Given the description of an element on the screen output the (x, y) to click on. 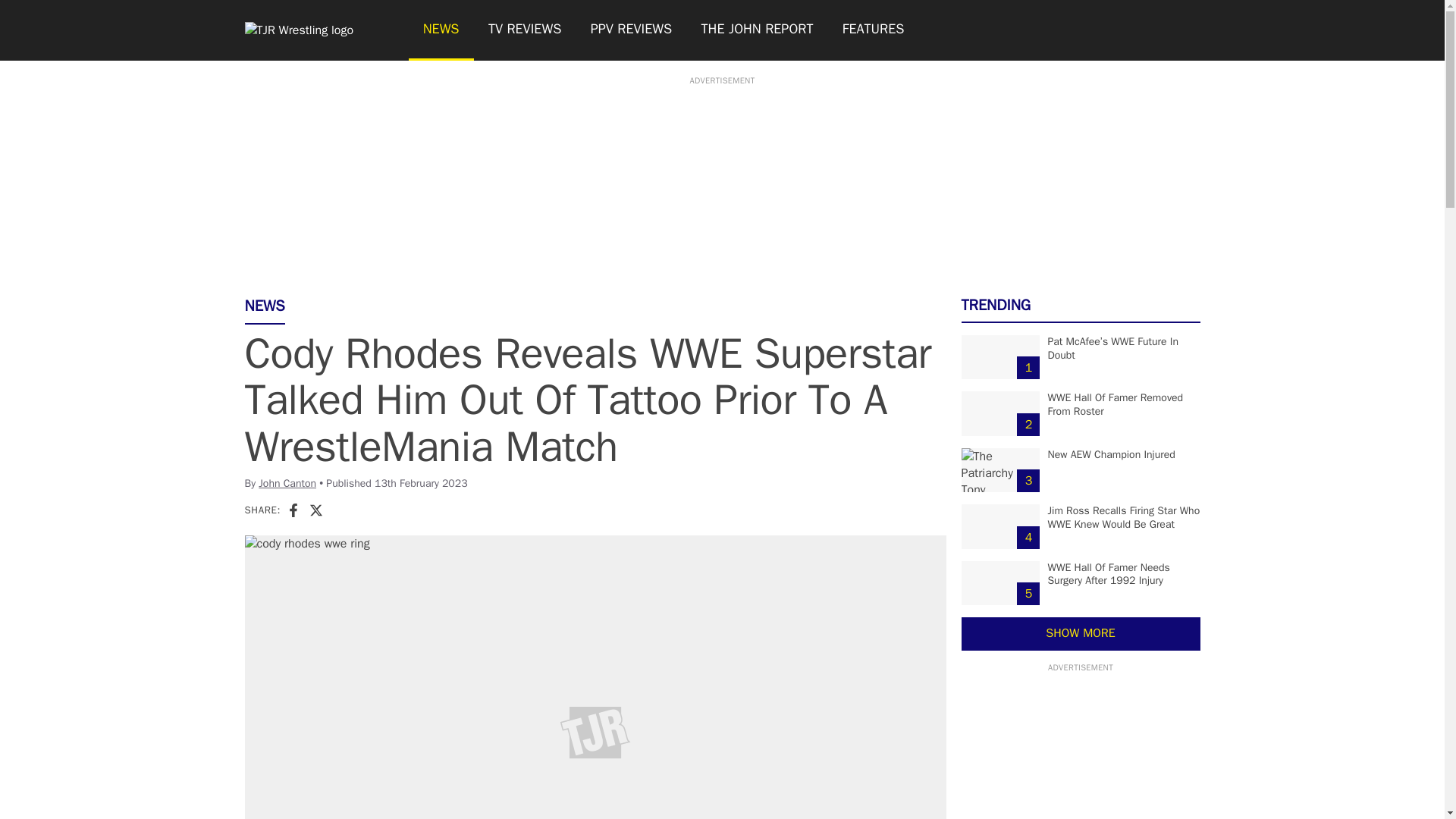
TV REVIEWS (525, 30)
PPV REVIEWS (631, 30)
FEATURES (873, 30)
Facebook (292, 509)
NEWS (440, 30)
John Canton (287, 482)
X (315, 509)
Facebook (292, 509)
THE JOHN REPORT (756, 30)
X (315, 509)
